Given the description of an element on the screen output the (x, y) to click on. 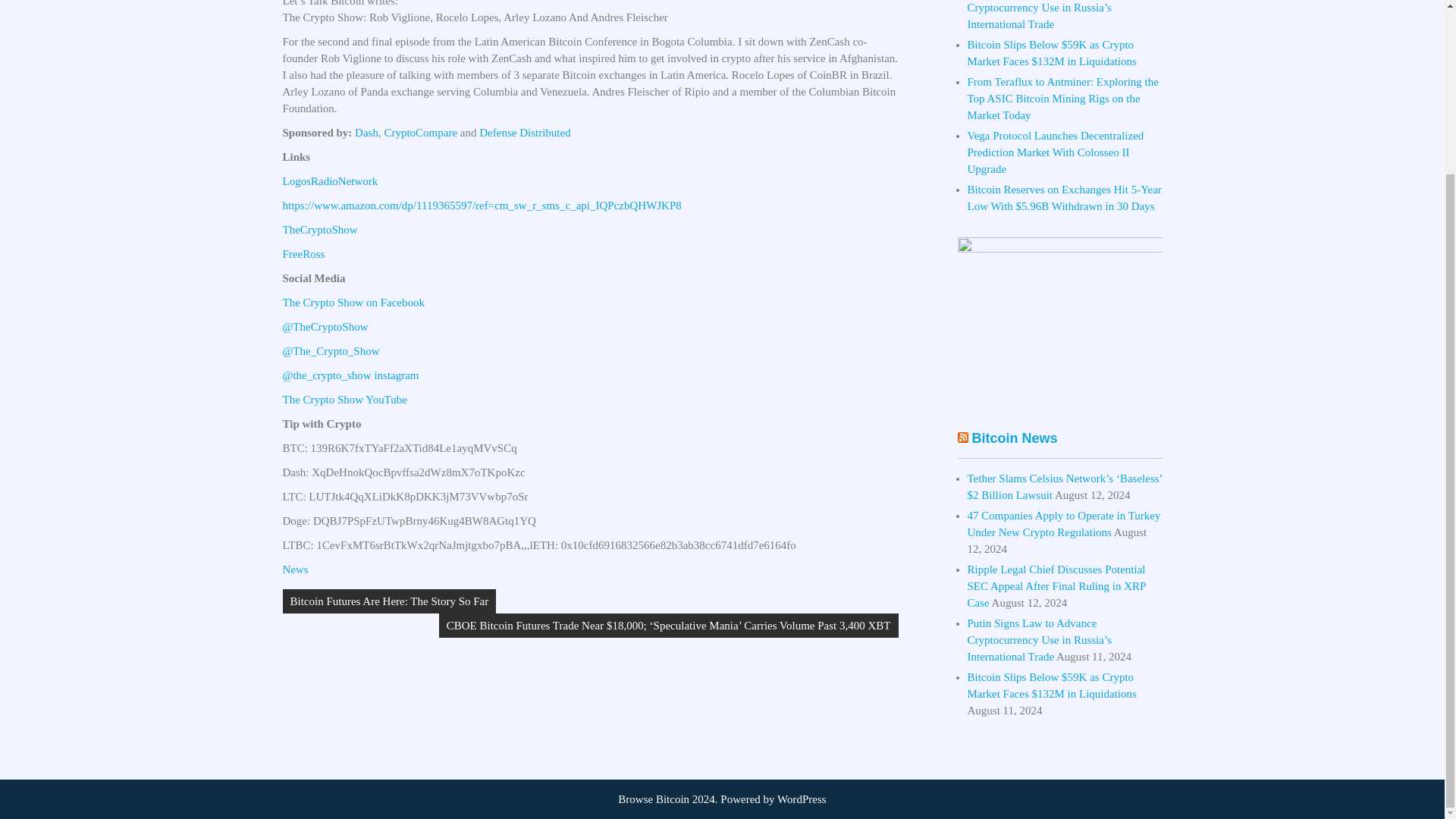
The Crypto Show YouTube (344, 399)
TheCryptoShow (319, 229)
The Crypto Show on Facebook (352, 302)
News (294, 569)
Bitcoin News (1015, 437)
Defense Distributed (524, 132)
Dash (366, 132)
Bitcoin Futures Are Here: The Story So Far (389, 600)
FreeRoss (303, 254)
